Given the description of an element on the screen output the (x, y) to click on. 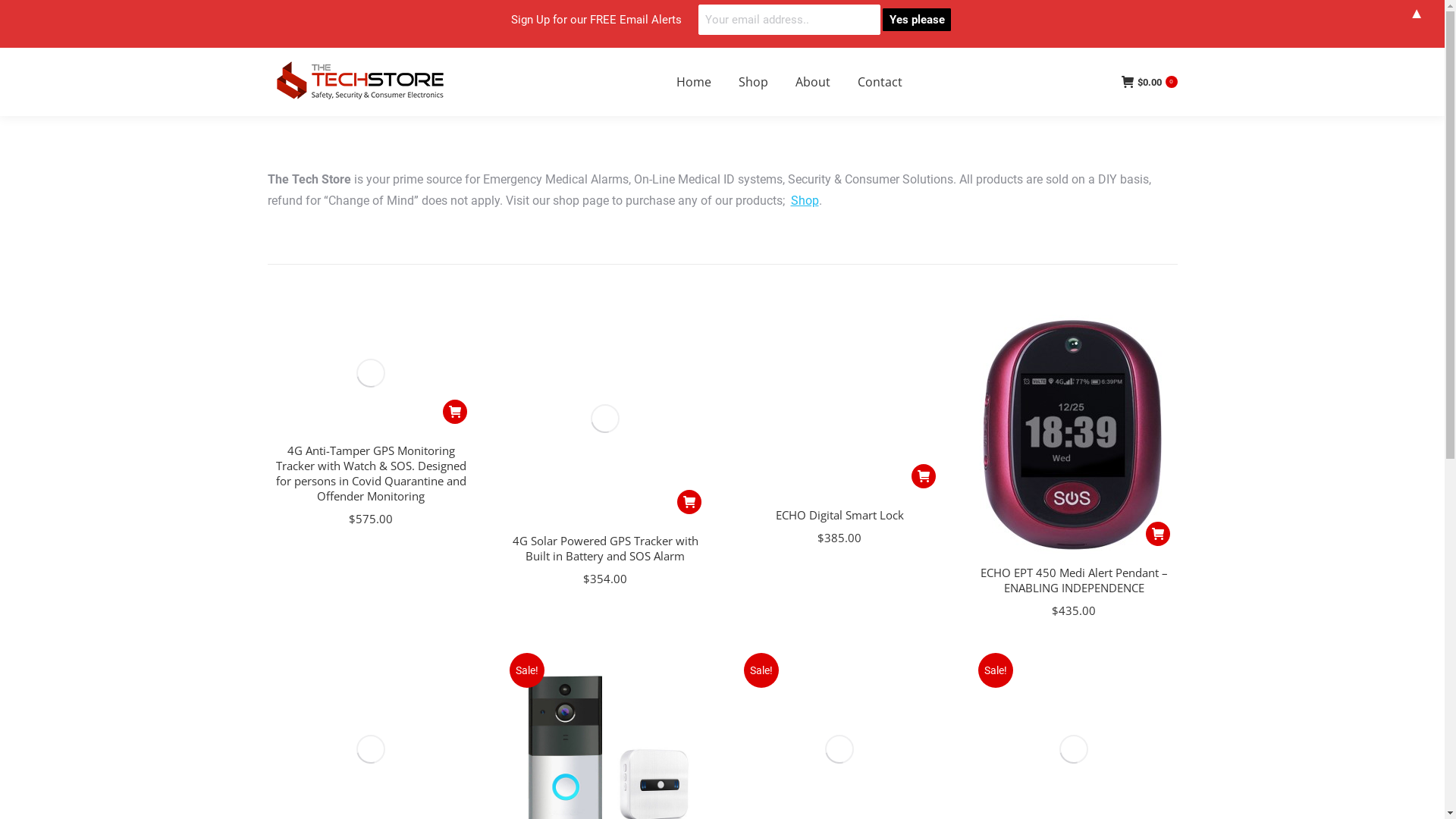
Yes please Element type: text (916, 19)
Home Element type: text (693, 81)
Contact Element type: text (878, 81)
Shop Element type: text (804, 200)
ECHO Digital Smart Lock Element type: text (839, 514)
About Element type: text (811, 81)
Shop Element type: text (753, 81)
$0.00
0 Element type: text (1148, 81)
